Given the description of an element on the screen output the (x, y) to click on. 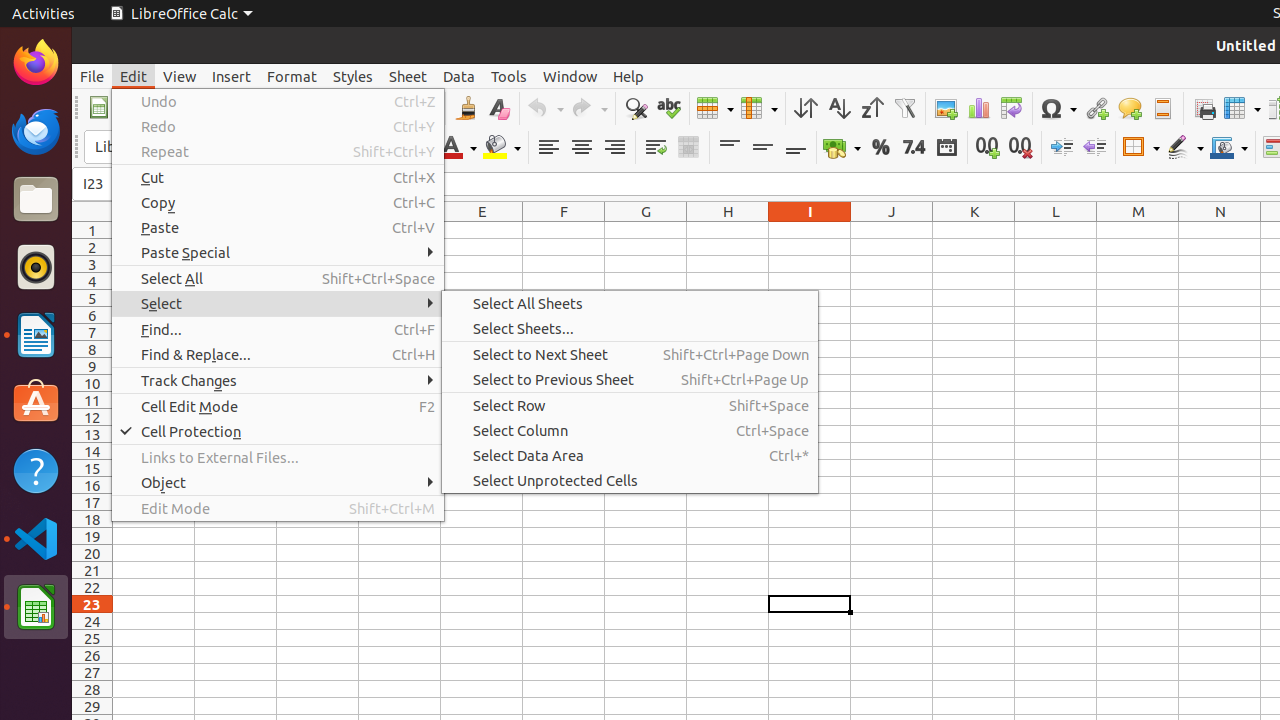
Hyperlink Element type: toggle-button (1096, 108)
Center Vertically Element type: push-button (762, 147)
Window Element type: menu (570, 76)
N1 Element type: table-cell (1220, 230)
